Given the description of an element on the screen output the (x, y) to click on. 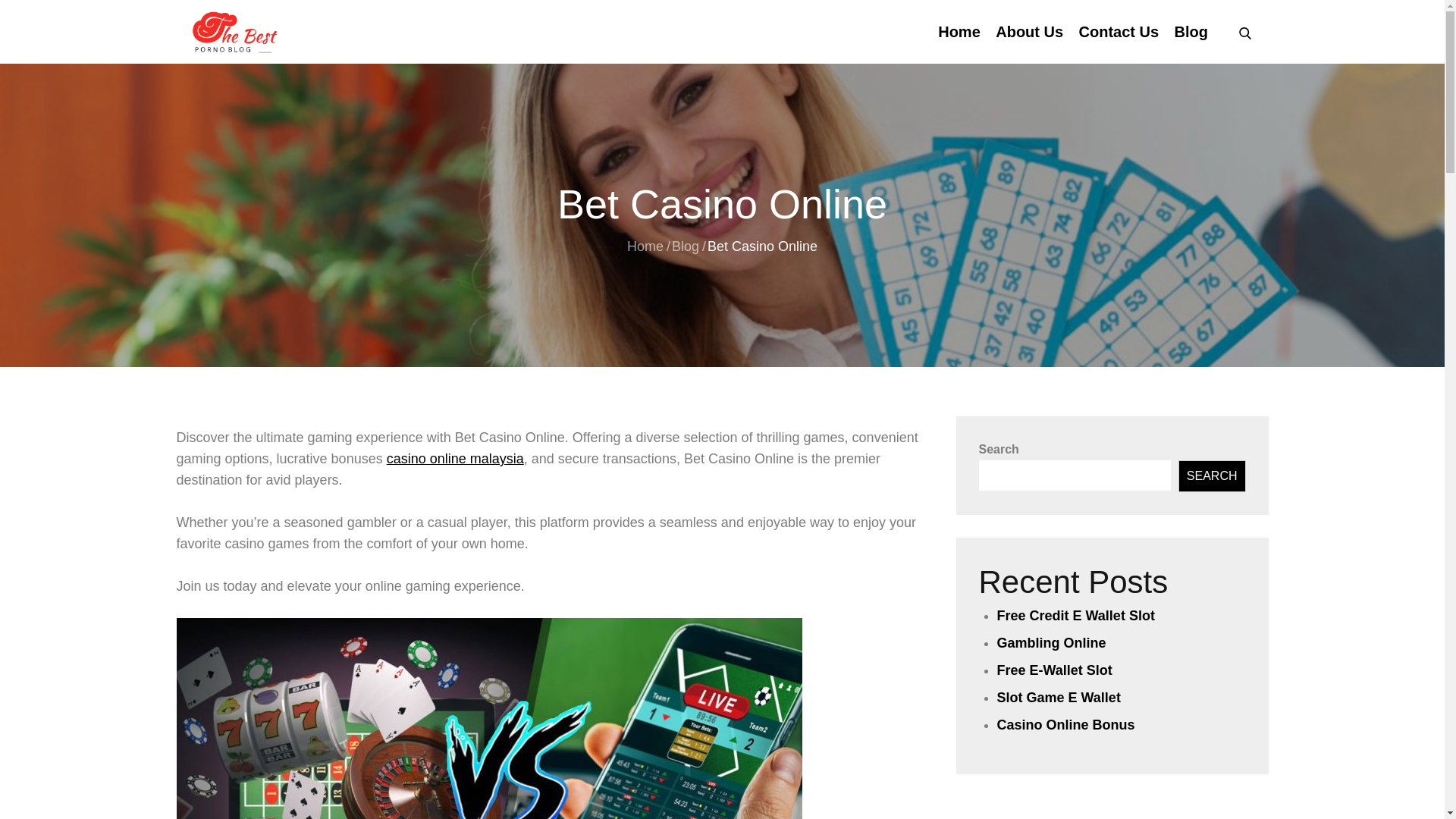
Free E-Wallet Slot (1053, 670)
SEARCH (1211, 476)
Blog (1191, 31)
Contact Us (1119, 31)
Blog (684, 246)
About Us (1029, 31)
Slot Game E Wallet (1057, 697)
Free Credit E Wallet Slot (1074, 615)
casino online malaysia (455, 458)
Gambling Online (1050, 642)
Home (959, 31)
Home (645, 246)
Casino Online Bonus (1064, 724)
